Given the description of an element on the screen output the (x, y) to click on. 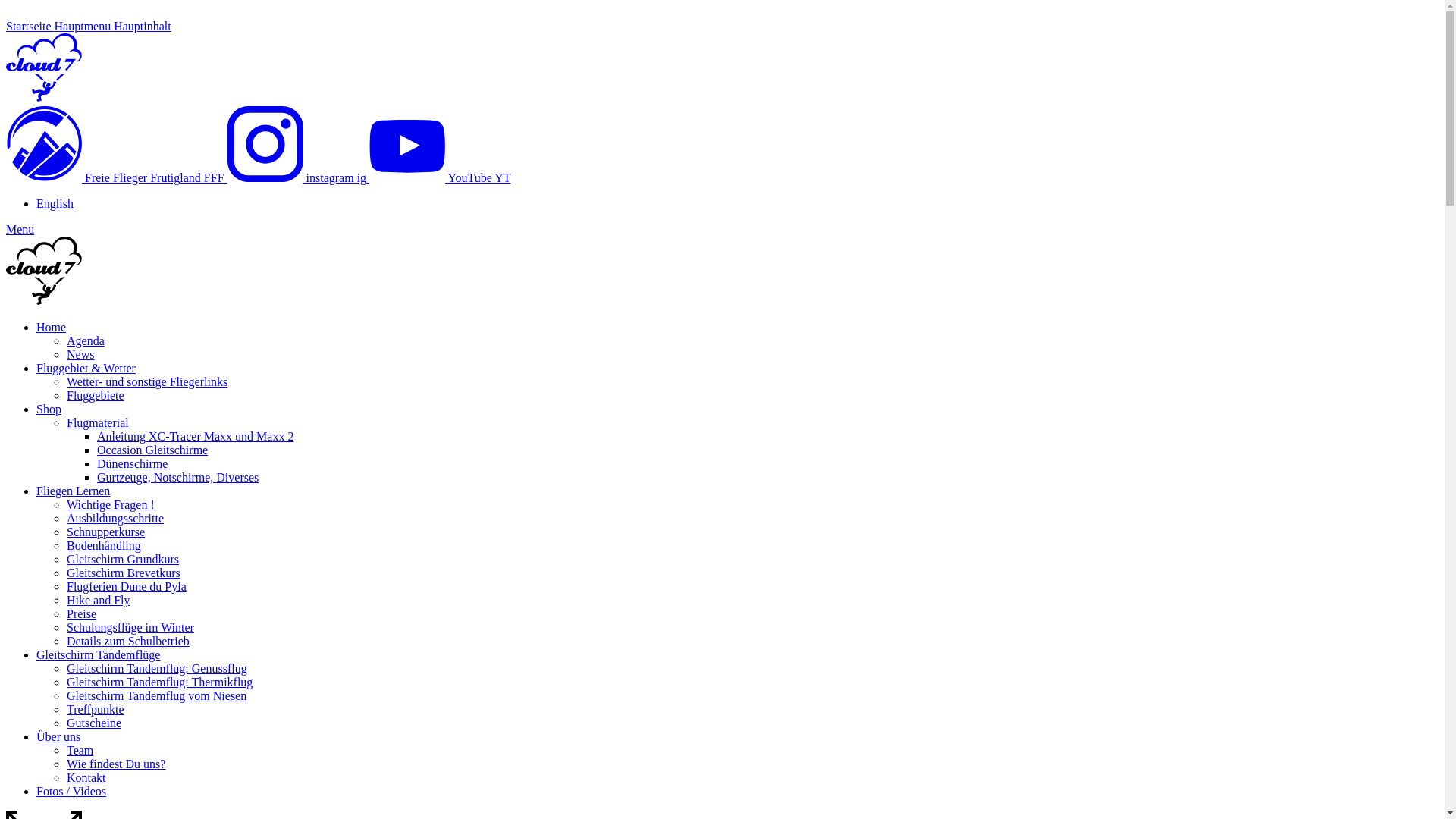
Menu Element type: text (20, 228)
Schnupperkurse Element type: text (105, 531)
Treffpunkte Element type: text (95, 708)
zur Startseite Element type: hover (43, 97)
Wetter- und sonstige Fliegerlinks Element type: text (146, 381)
Flugmaterial Element type: text (97, 422)
Startseite Element type: text (30, 25)
Fluggebiete Element type: text (95, 395)
Flugferien Dune du Pyla Element type: text (126, 586)
Occasion Gleitschirme Element type: text (152, 449)
Fotos / Videos Element type: text (71, 790)
Gleitschirm Tandemflug: Thermikflug Element type: text (159, 681)
Hauptinhalt Element type: text (142, 25)
English Element type: text (54, 203)
Gutscheine Element type: text (93, 722)
Agenda Element type: text (85, 340)
Shop Element type: text (48, 408)
Team Element type: text (79, 749)
Details zum Schulbetrieb Element type: text (127, 640)
Gurtzeuge, Notschirme, Diverses Element type: text (177, 476)
Kontakt Element type: text (86, 777)
News Element type: text (80, 354)
Gleitschirm Tandemflug: Genussflug Element type: text (156, 668)
Hauptmenu Element type: text (84, 25)
Gleitschirm Grundkurs Element type: text (122, 558)
Fluggebiet & Wetter Element type: text (85, 367)
Home Element type: text (50, 326)
Anleitung XC-Tracer Maxx und Maxx 2 Element type: text (195, 435)
Ausbildungsschritte Element type: text (114, 517)
Freie Flieger Frutigland FFF Element type: text (116, 177)
YouTube YT Element type: text (439, 177)
Fliegen Lernen Element type: text (72, 490)
Gleitschirm Brevetkurs Element type: text (123, 572)
Preise Element type: text (81, 613)
Wie findest Du uns? Element type: text (115, 763)
Gleitschirm Tandemflug vom Niesen Element type: text (156, 695)
Wichtige Fragen ! Element type: text (110, 504)
instagram ig Element type: text (298, 177)
Hike and Fly Element type: text (98, 599)
